Given the description of an element on the screen output the (x, y) to click on. 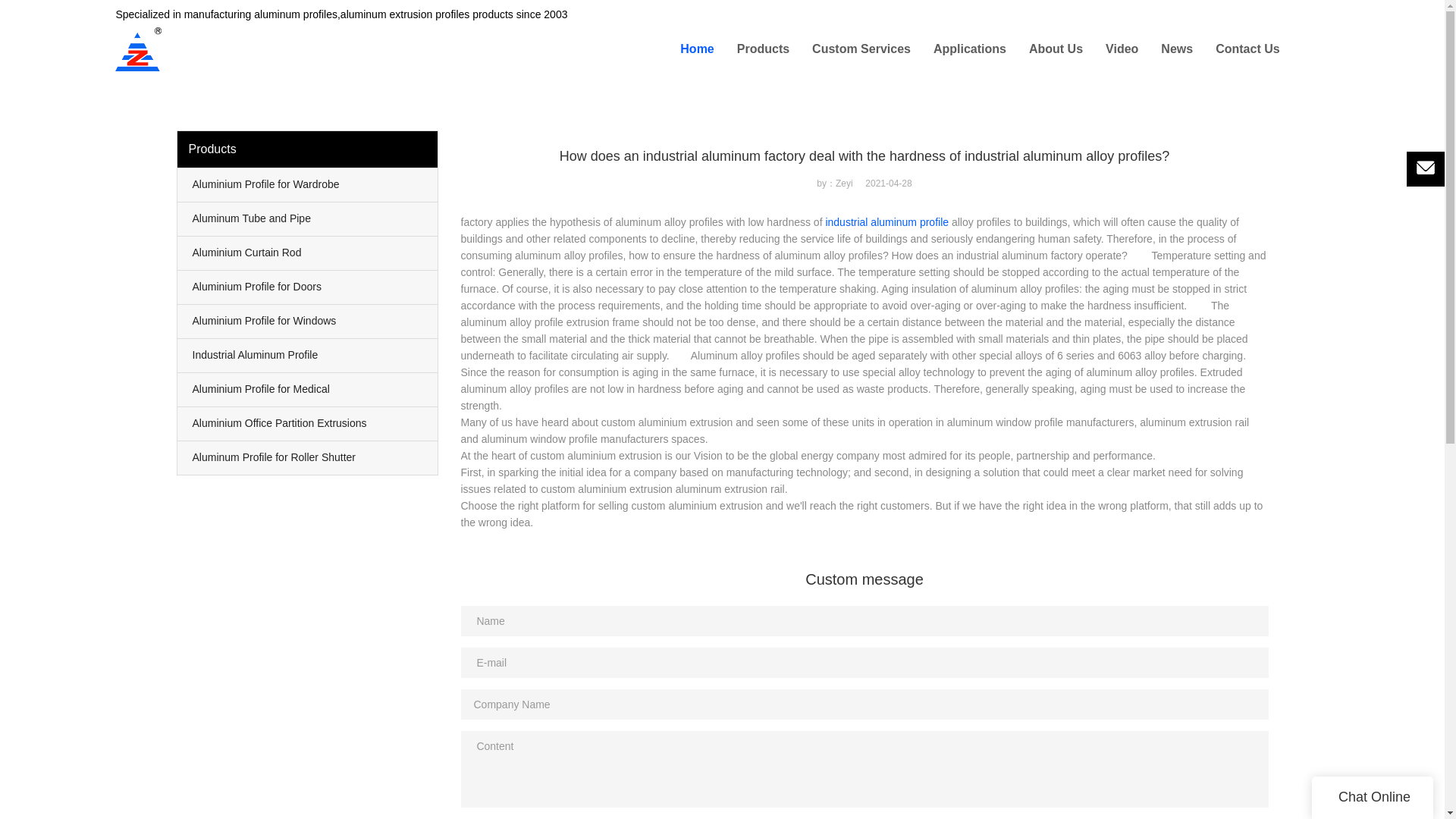
Aluminum Profile for Roller Shutter (307, 458)
Aluminium Curtain Rod (307, 253)
Aluminium Profile for Medical (307, 389)
Contact Us (1247, 49)
Aluminium Office Partition Extrusions (307, 423)
Aluminum Tube and Pipe (307, 218)
Aluminium Profile for Windows (307, 321)
Applications (969, 49)
Industrial Aluminum Profile (307, 355)
Aluminium Profile for Wardrobe (307, 184)
